Given the description of an element on the screen output the (x, y) to click on. 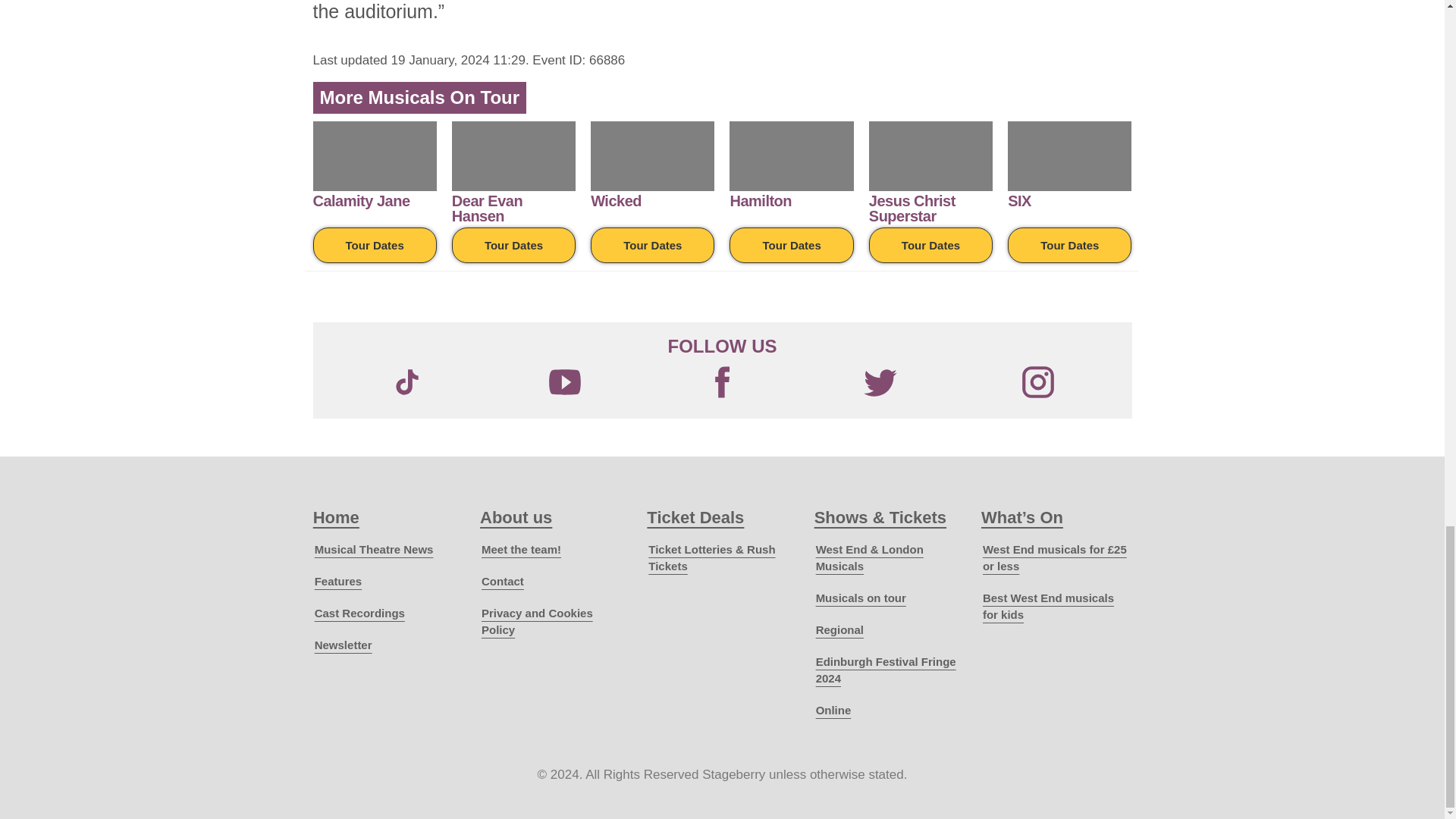
SIX (1018, 200)
Tour Dates (930, 244)
Hamilton (760, 200)
Tour Dates (513, 244)
Tour Dates (652, 244)
Tour Dates (1069, 244)
Tour Dates (374, 244)
Calamity Jane (361, 200)
Wicked (616, 200)
Tour Dates (791, 244)
More Musicals On Tour (419, 96)
Dear Evan Hansen (486, 208)
Jesus Christ Superstar (912, 208)
